Given the description of an element on the screen output the (x, y) to click on. 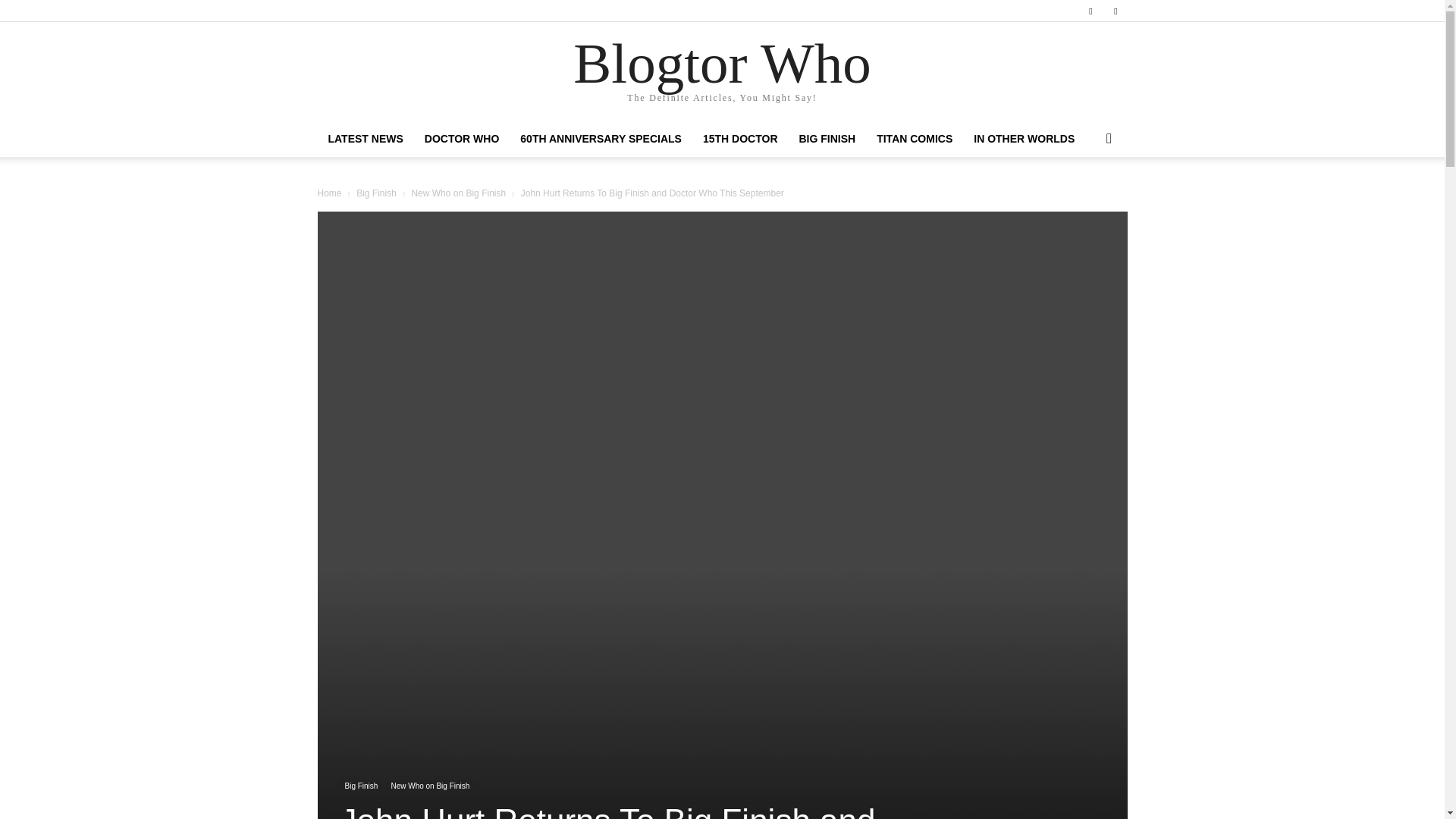
Blogtor Who The Definite Articles, You Might Say! (722, 72)
New Who on Big Finish (457, 193)
DOCTOR WHO (462, 138)
Big Finish (376, 193)
15TH DOCTOR (741, 138)
TITAN COMICS (914, 138)
IN OTHER WORLDS (1023, 138)
New Who on Big Finish (429, 786)
BIG FINISH (827, 138)
Big Finish (360, 786)
